Given the description of an element on the screen output the (x, y) to click on. 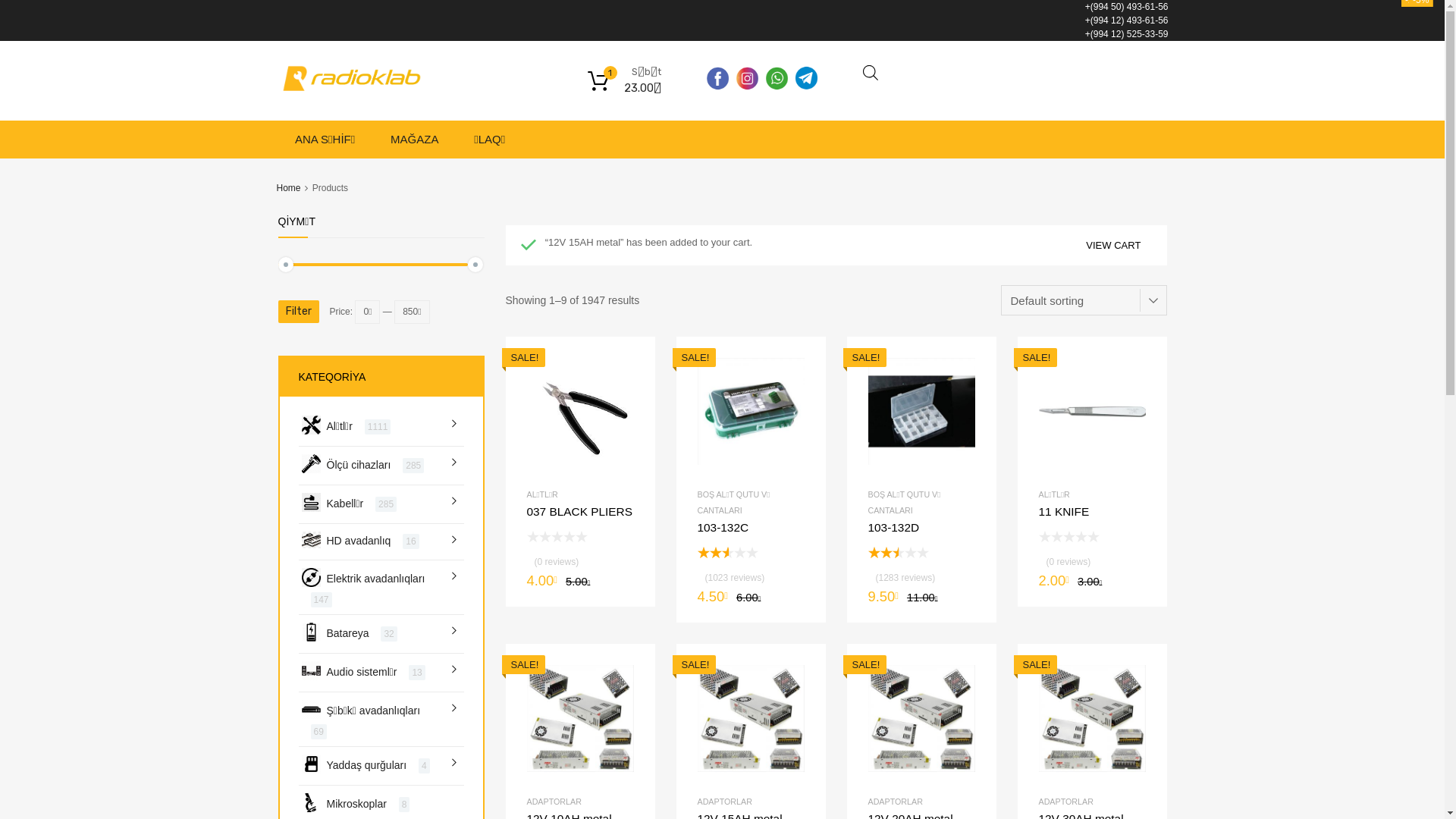
ADAPTORLAR Element type: text (553, 801)
ADAPTORLAR Element type: text (1065, 801)
103-132D Element type: text (920, 551)
+(994 12) 493-61-56 Element type: text (1126, 20)
11 KNIFE Element type: text (1091, 535)
+(994 50) 493-61-56 Element type: text (1126, 6)
Radioklab Element type: hover (354, 86)
ADAPTORLAR Element type: text (724, 801)
Filter Element type: text (297, 311)
Batareya Element type: text (347, 633)
VIEW CART Element type: text (1113, 245)
Mikroskoplar Element type: text (355, 804)
103-132C Element type: text (750, 551)
Home Element type: text (288, 187)
037 BLACK PLIERS Element type: text (579, 535)
ADAPTORLAR Element type: text (894, 801)
+(994 12) 525-33-59 Element type: text (1126, 33)
